Given the description of an element on the screen output the (x, y) to click on. 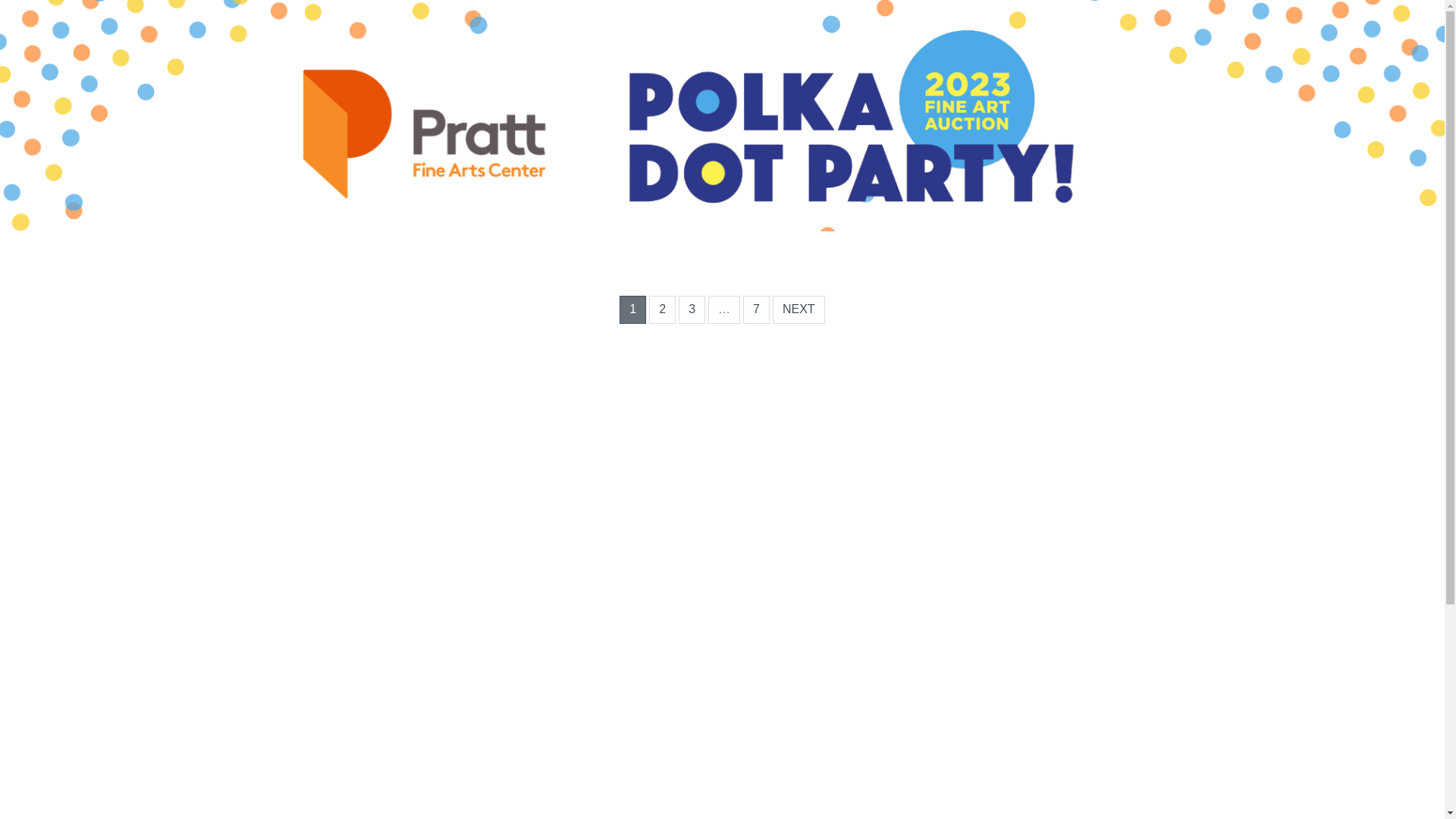
NEXT Element type: text (798, 309)
3 Element type: text (691, 309)
7 Element type: text (756, 309)
2 Element type: text (662, 309)
